Given the description of an element on the screen output the (x, y) to click on. 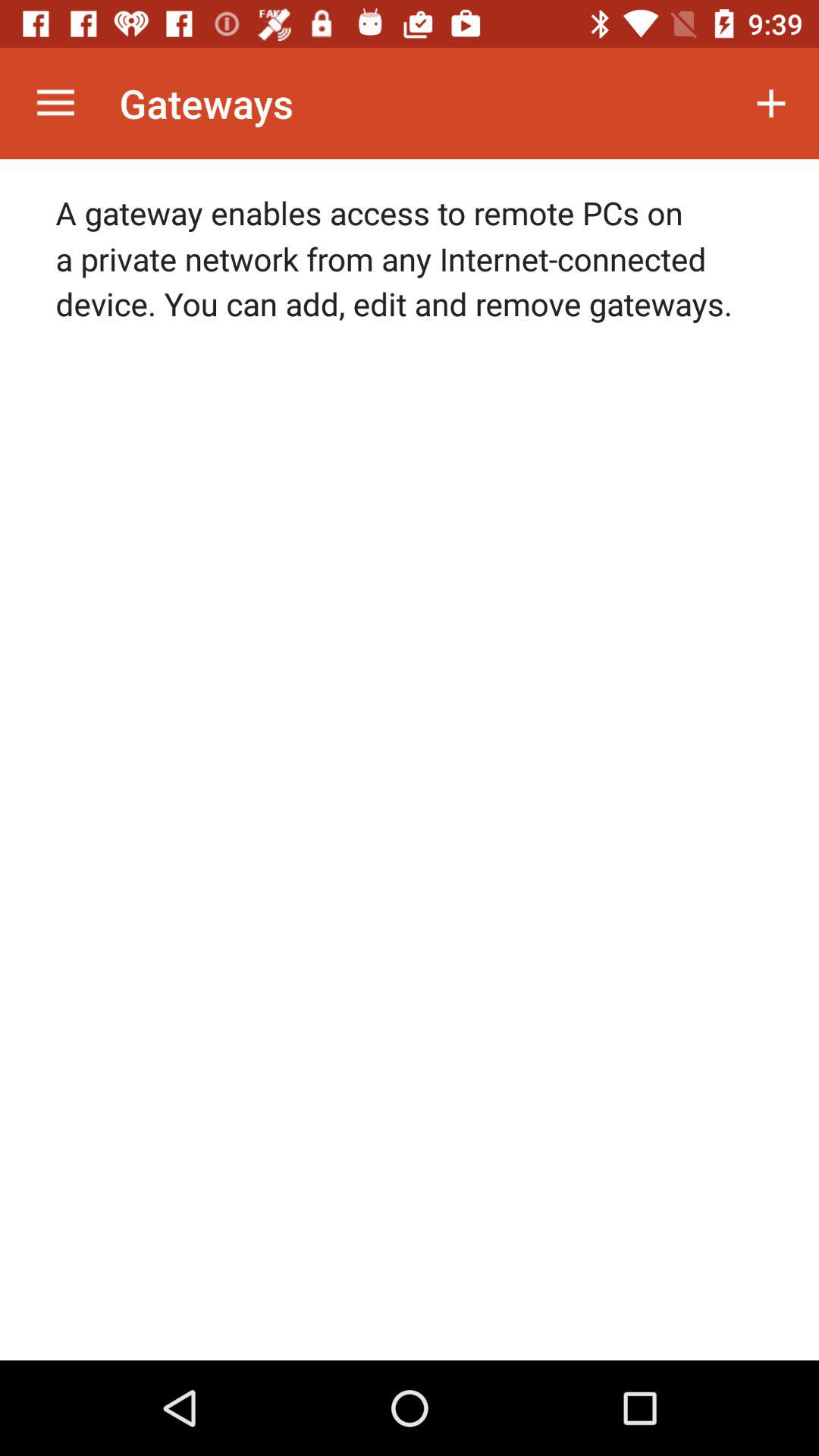
click item to the left of gateways app (55, 103)
